Given the description of an element on the screen output the (x, y) to click on. 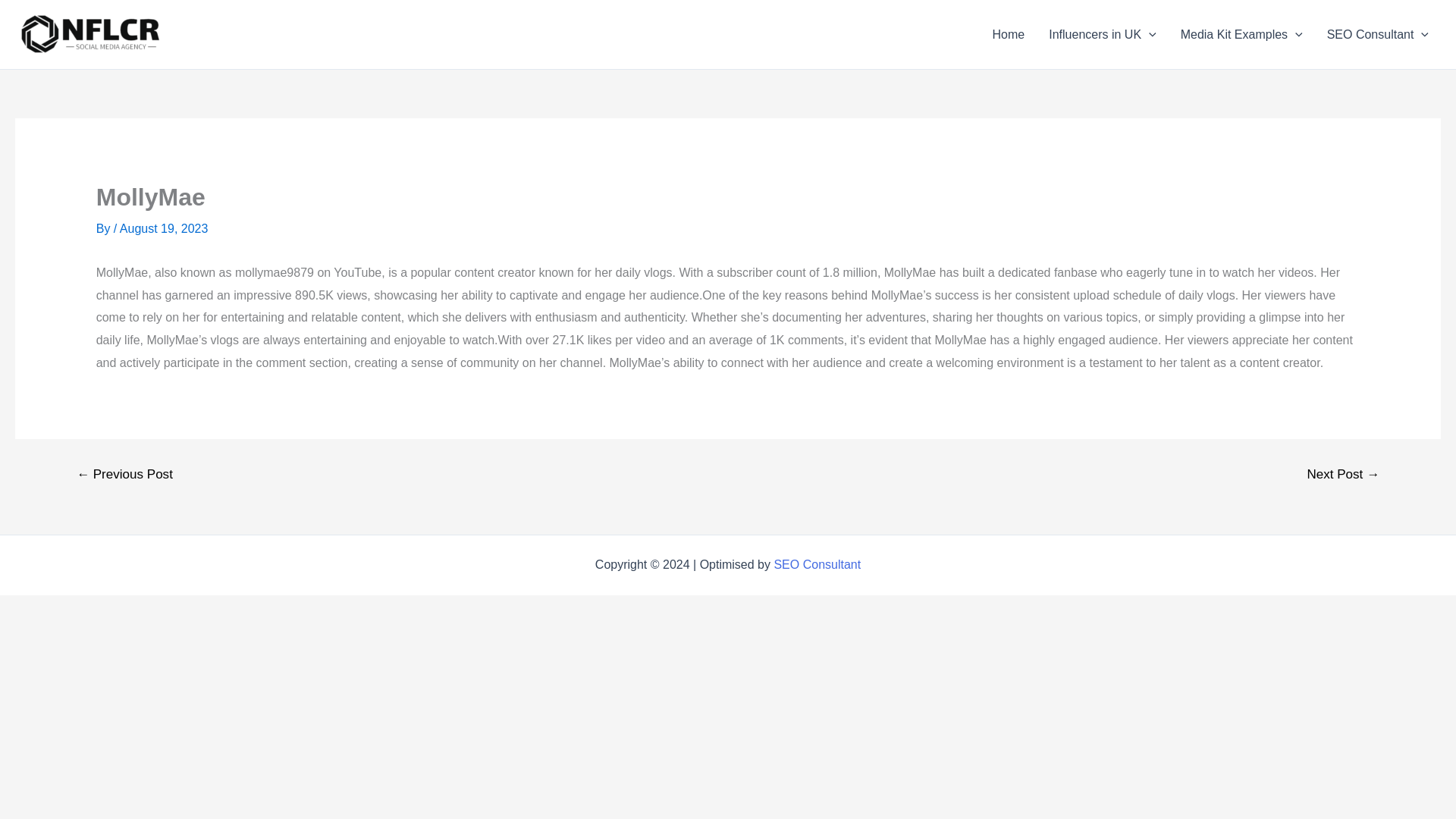
Home (1007, 34)
Media Kit Examples (1241, 34)
SEO Consultant (1377, 34)
Influencers in UK (1101, 34)
